Given the description of an element on the screen output the (x, y) to click on. 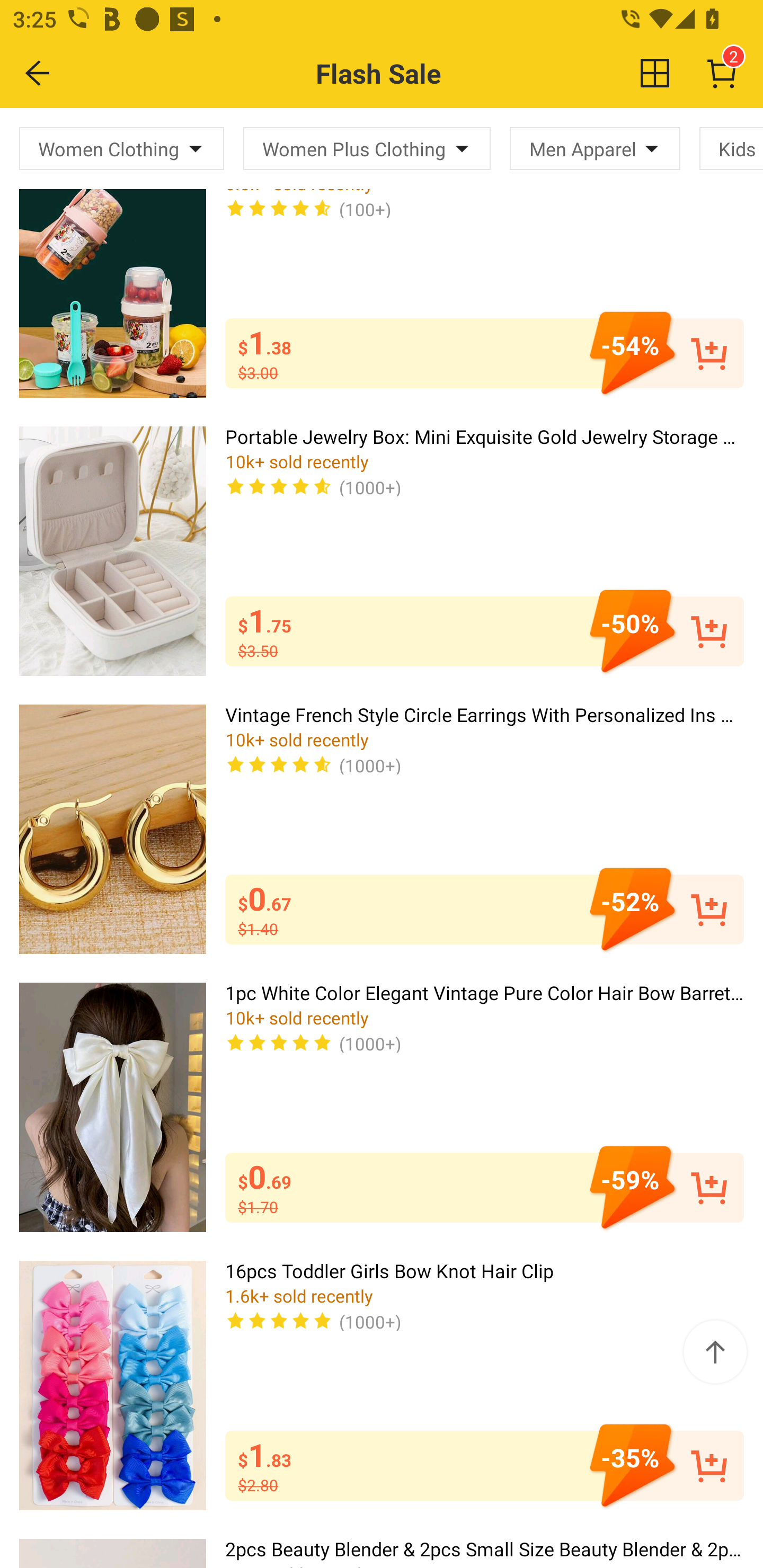
Flash Sale change view 2 (419, 72)
2 (721, 72)
change view (654, 72)
BACK (38, 72)
Women Clothing (121, 148)
Women Plus Clothing (366, 148)
Men Apparel (594, 148)
16pcs Toddler Girls Bow Knot Hair Clip (112, 1384)
Back to top (714, 1351)
